Given the description of an element on the screen output the (x, y) to click on. 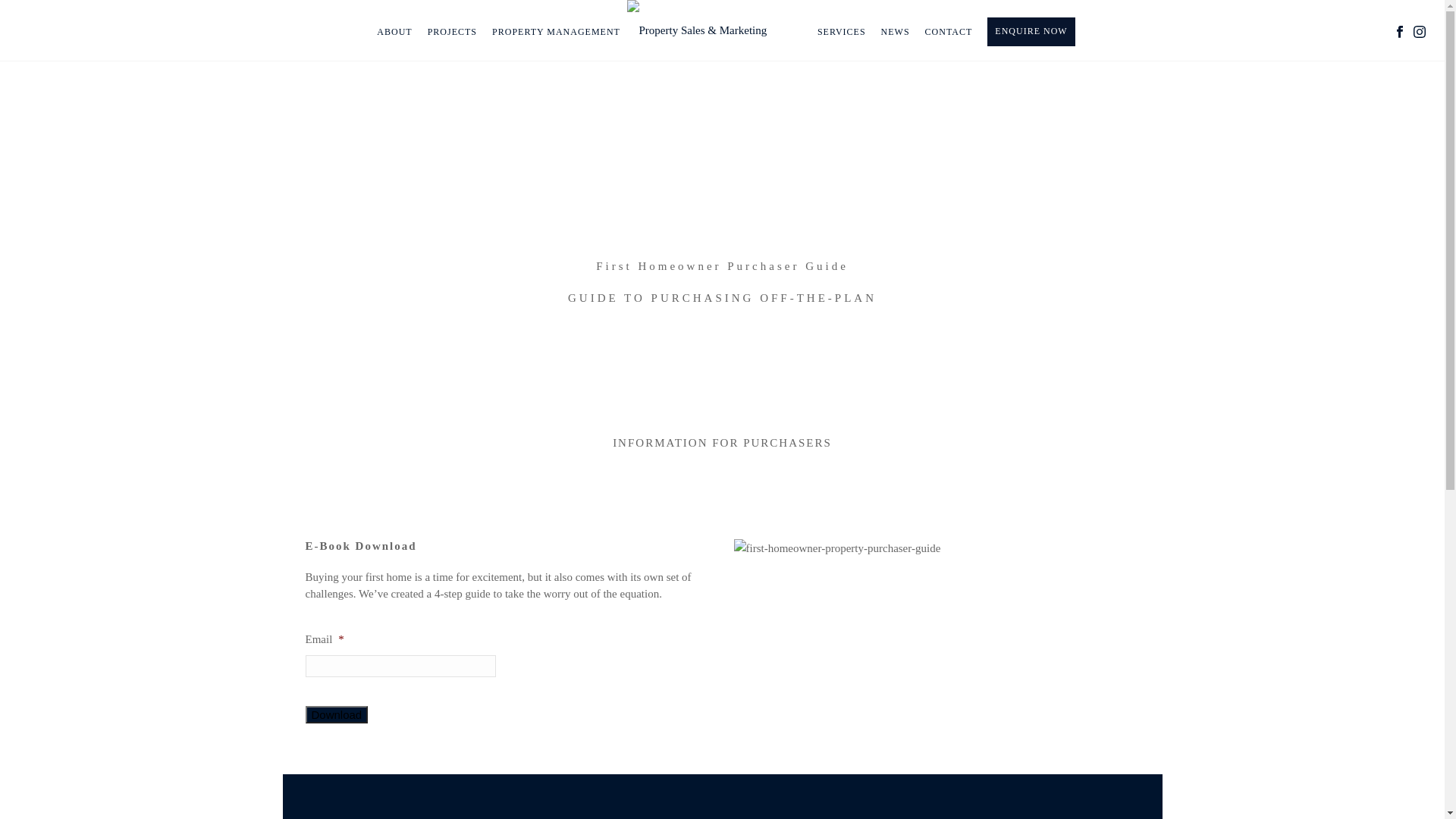
Download Element type: text (335, 714)
PROJECTS Element type: text (452, 31)
CONTACT Element type: text (948, 31)
SERVICES Element type: text (841, 31)
PROPERTY MANAGEMENT Element type: text (555, 31)
first-homeowner-property-purchaser-guide Element type: hover (837, 548)
ABOUT Element type: text (394, 31)
NEWS Element type: text (895, 31)
ENQUIRE NOW Element type: text (1030, 31)
Eton Property Group Element type: hover (696, 30)
